Given the description of an element on the screen output the (x, y) to click on. 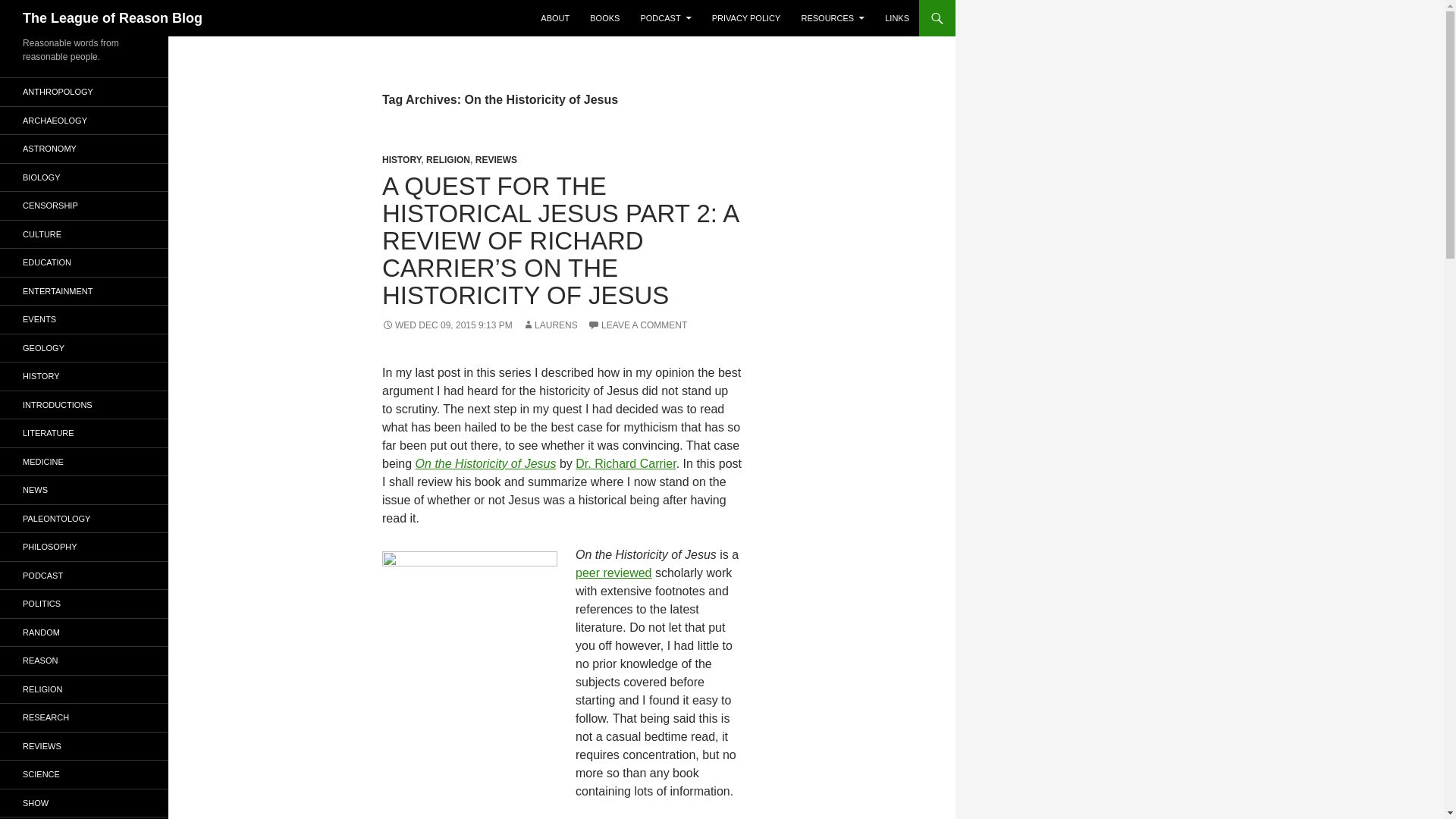
RELIGION (448, 159)
The League of Reason Blog (112, 18)
ANTHROPOLOGY (84, 91)
LEAVE A COMMENT (637, 325)
peer reviewed (613, 572)
HISTORY (400, 159)
LINKS (897, 18)
ABOUT (554, 18)
BOOKS (604, 18)
RESOURCES (832, 18)
WED DEC 09, 2015 9:13 PM (446, 325)
ARCHAEOLOGY (84, 120)
PODCAST (665, 18)
